Given the description of an element on the screen output the (x, y) to click on. 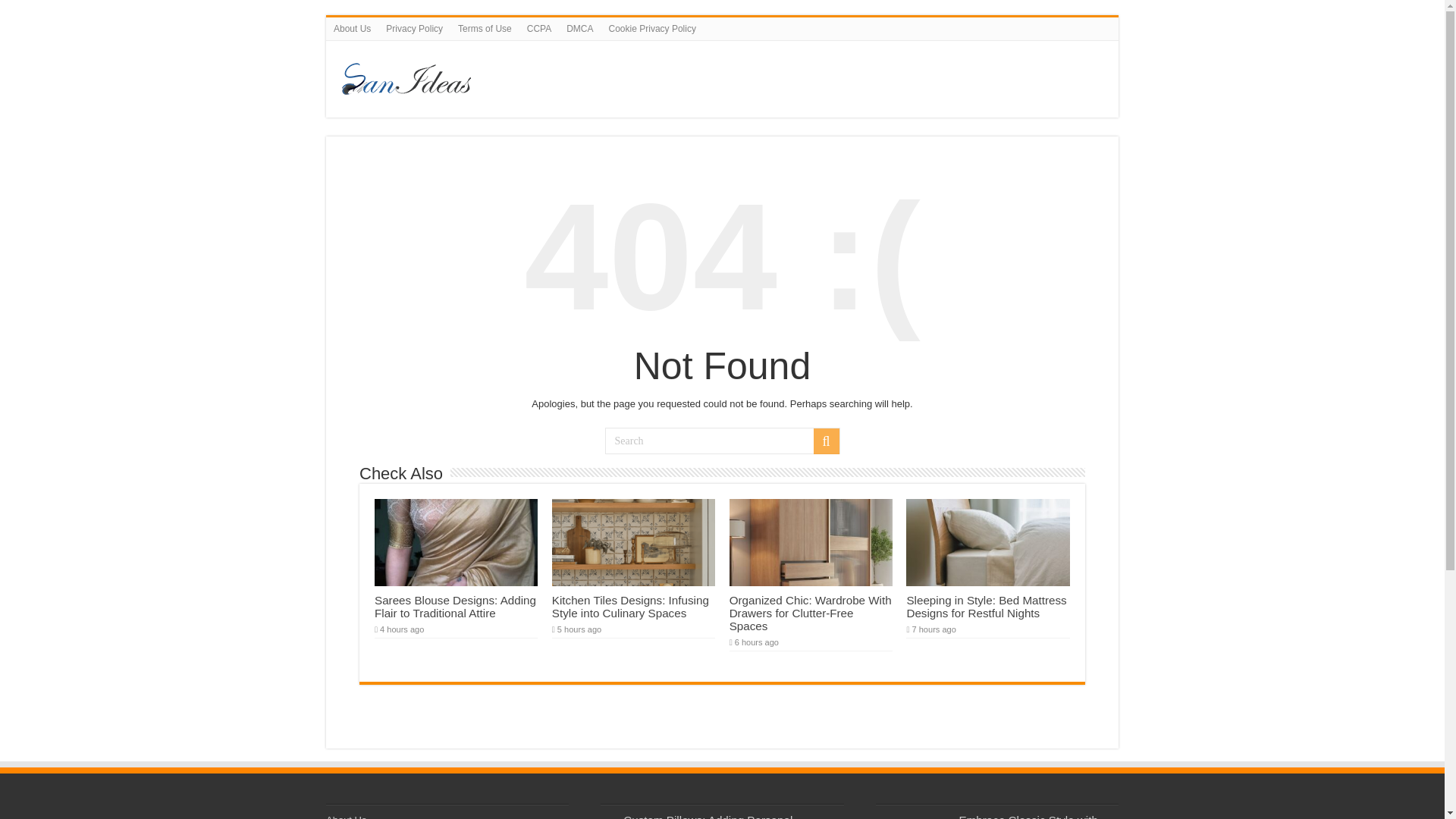
CCPA (539, 28)
Cookie Privacy Policy (652, 28)
Search (722, 440)
Search (825, 441)
sanideas.com (640, 76)
Sarees Blouse Designs: Adding Flair to Traditional Attire (454, 606)
Terms of Use (484, 28)
DMCA (579, 28)
Custom Pillows: Adding Personal Touches to Your Home Decor (695, 816)
About Us (346, 816)
Kitchen Tiles Designs: Infusing Style into Culinary Spaces (630, 606)
Privacy Policy (413, 28)
Sleeping in Style: Bed Mattress Designs for Restful Nights (985, 606)
About Us (352, 28)
